Given the description of an element on the screen output the (x, y) to click on. 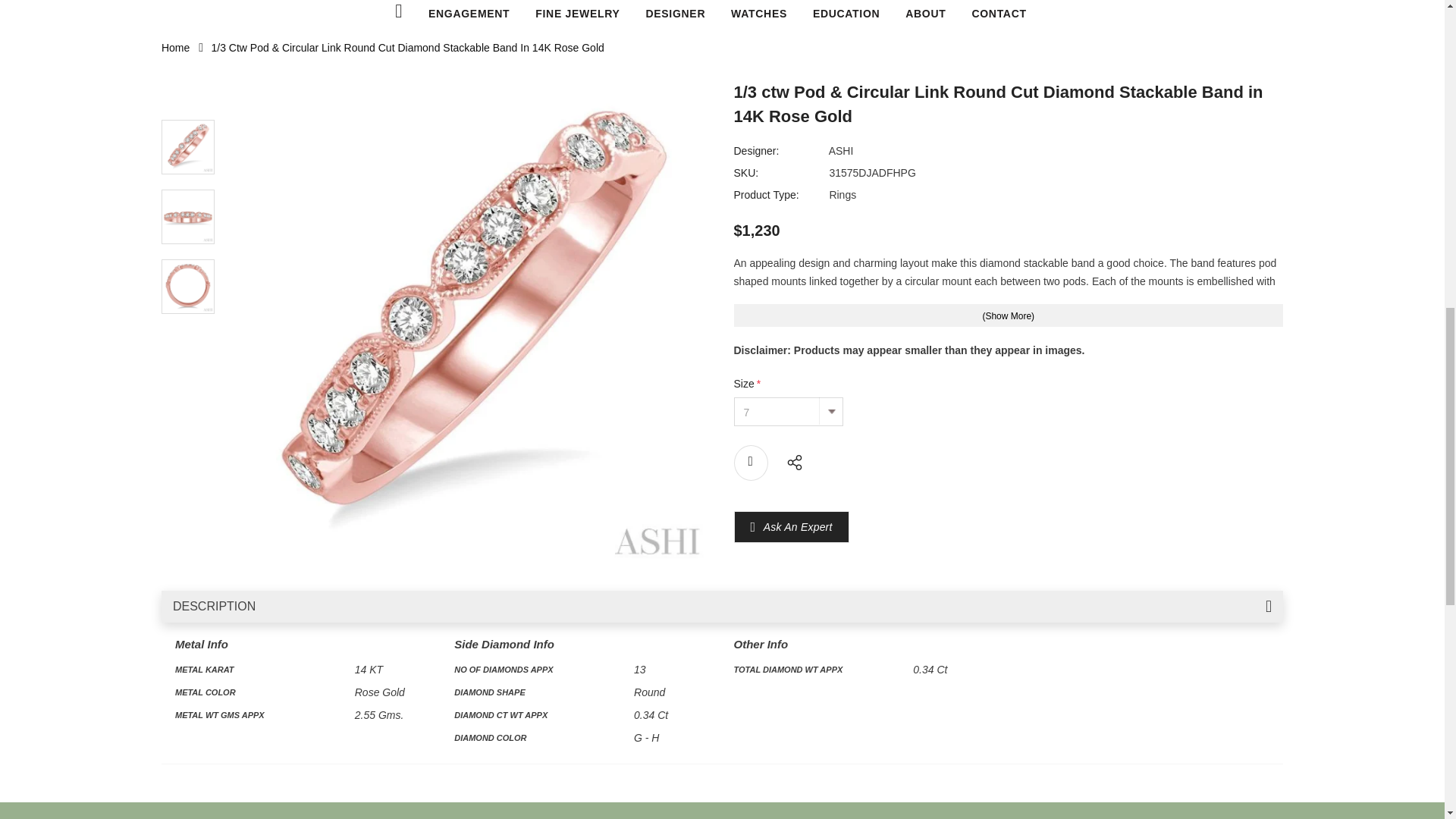
Home (175, 47)
ENGAGEMENT (468, 14)
WATCHES (758, 14)
ABOUT (924, 14)
EDUCATION (845, 14)
Ask An Expert (797, 526)
Wishlist (750, 462)
FINE JEWELRY (577, 14)
CONTACT (998, 14)
ASHI (840, 150)
